Given the description of an element on the screen output the (x, y) to click on. 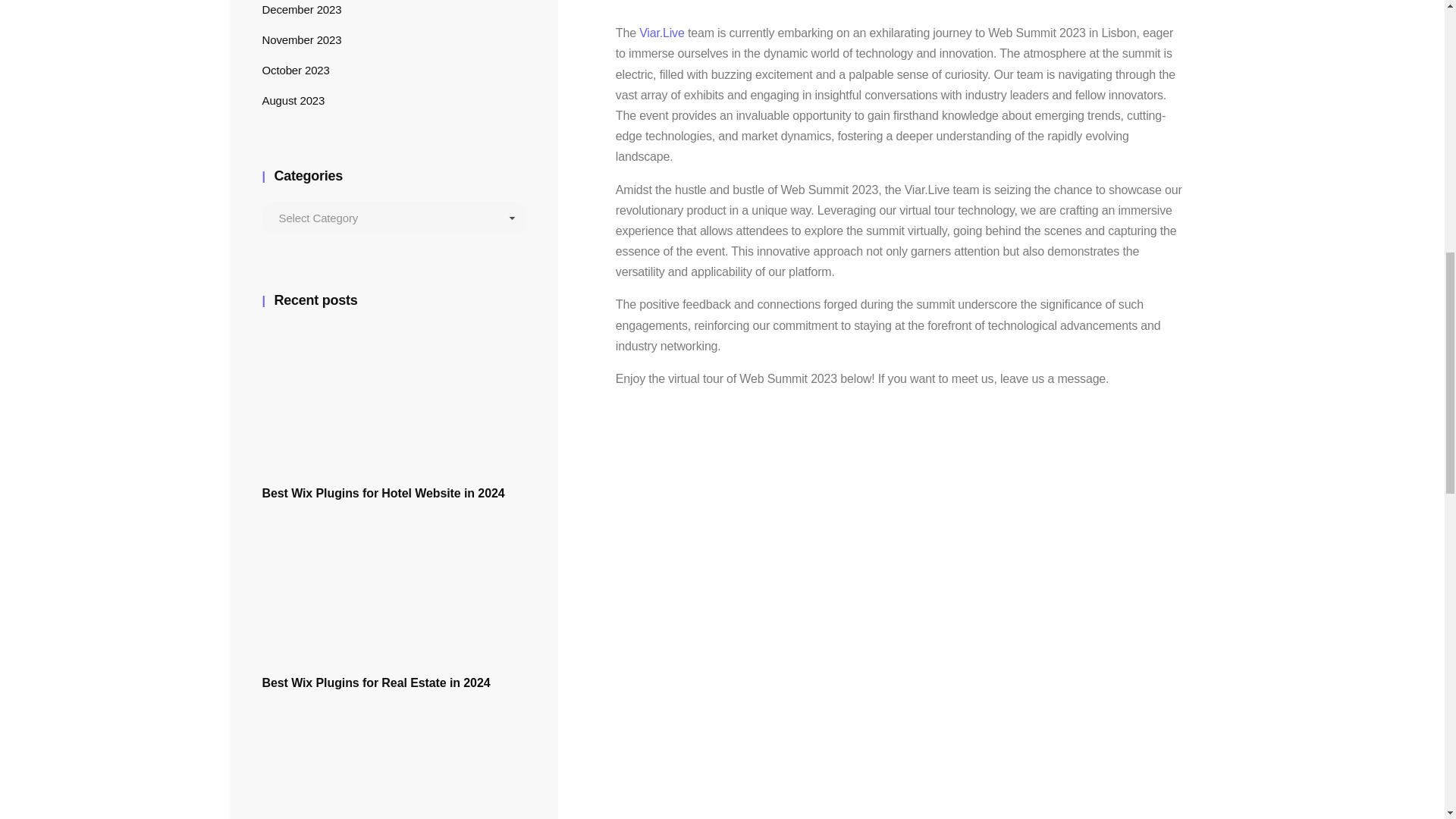
October 2023 (296, 69)
November 2023 (302, 39)
Viar.Live (661, 32)
August 2023 (293, 100)
December 2023 (302, 9)
Best Wix Plugins for Hotel Website in 2024 (393, 447)
